Given the description of an element on the screen output the (x, y) to click on. 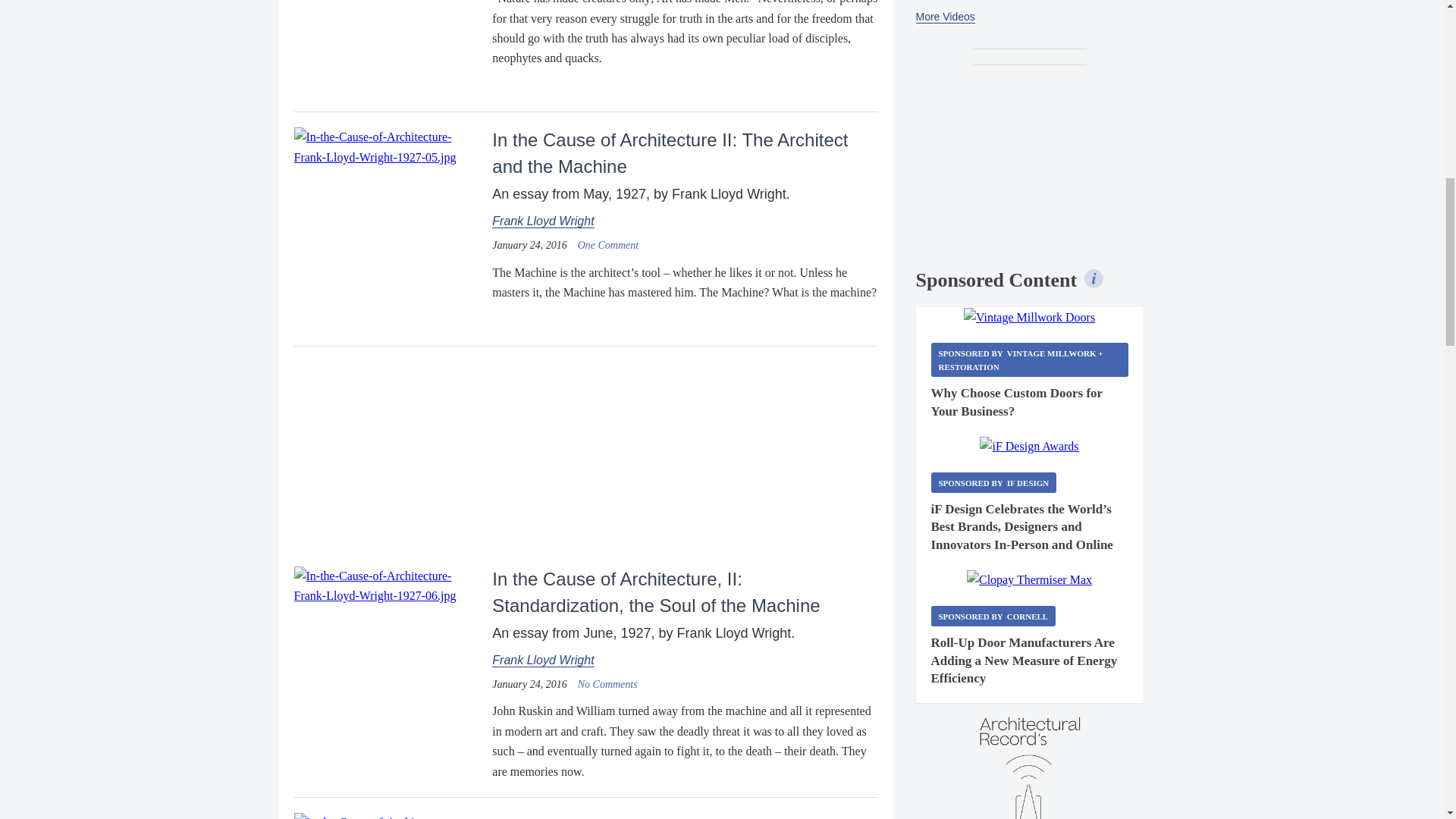
In-the-Cause-of-Architecture-Frank-Lloyd-Wright-1927-08.jpg (387, 816)
In-the-Cause-of-Architecture-Frank-Lloyd-Wright-1927-06.jpg (387, 586)
In-the-Cause-of-Architecture-Frank-Lloyd-Wright-1927-05.jpg (387, 147)
